Given the description of an element on the screen output the (x, y) to click on. 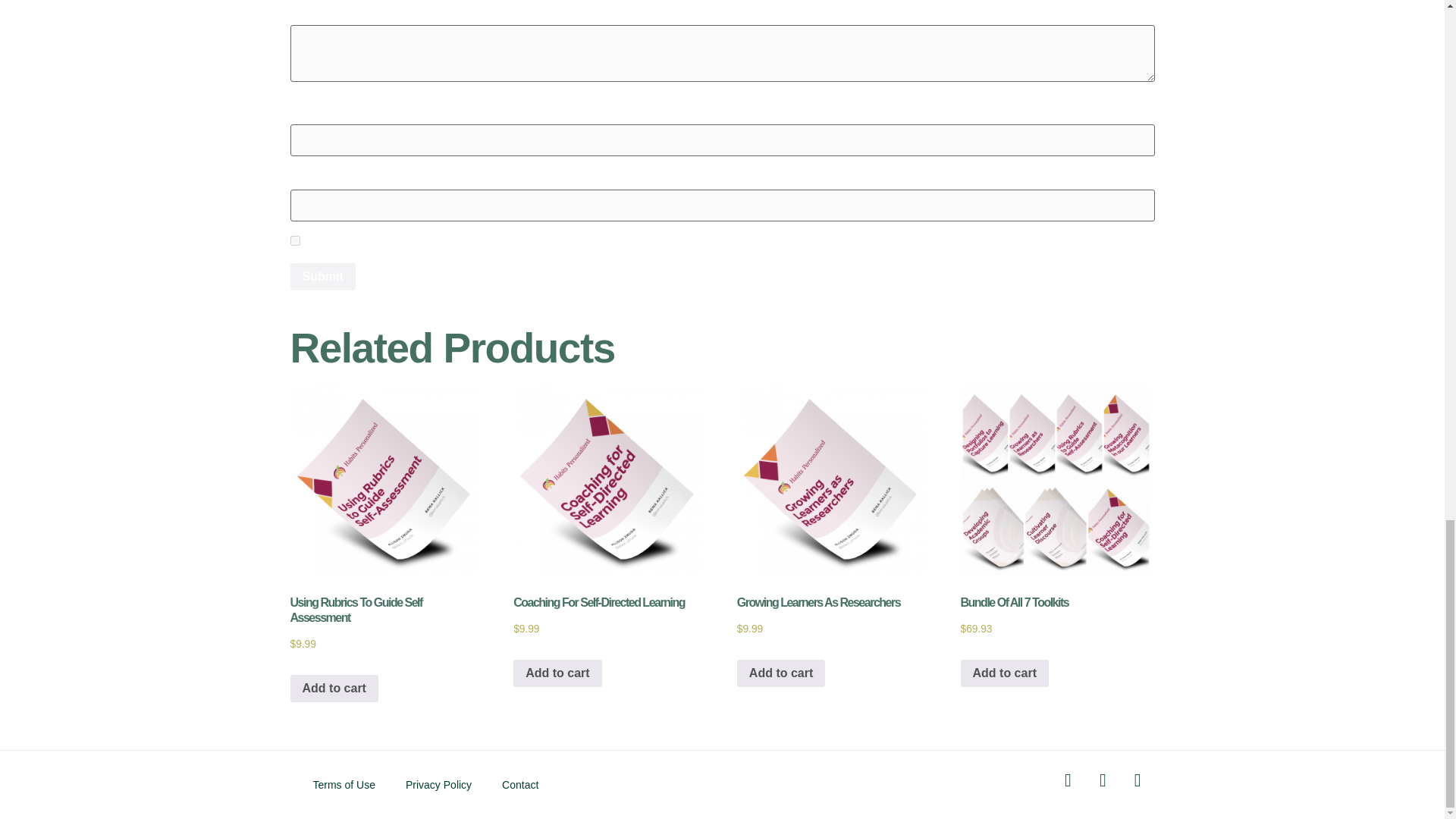
Privacy Policy (438, 784)
Contact (519, 784)
Add to cart (557, 673)
Add to cart (780, 673)
Add to cart (1004, 673)
Submit (322, 276)
Submit (322, 276)
yes (294, 240)
Terms of Use (343, 784)
Add to cart (333, 687)
